Given the description of an element on the screen output the (x, y) to click on. 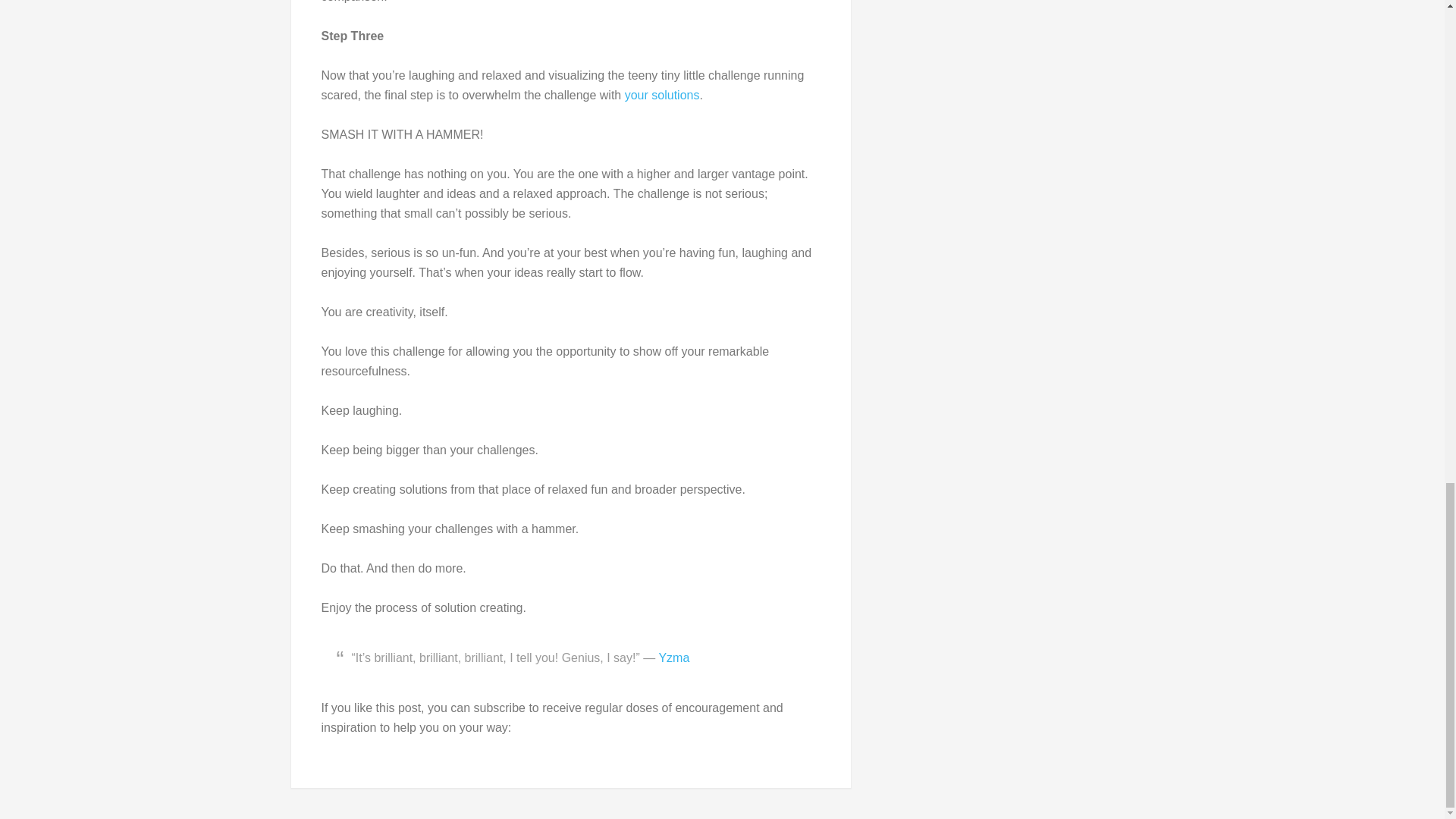
your solutions (662, 94)
Yzma (673, 657)
